Given the description of an element on the screen output the (x, y) to click on. 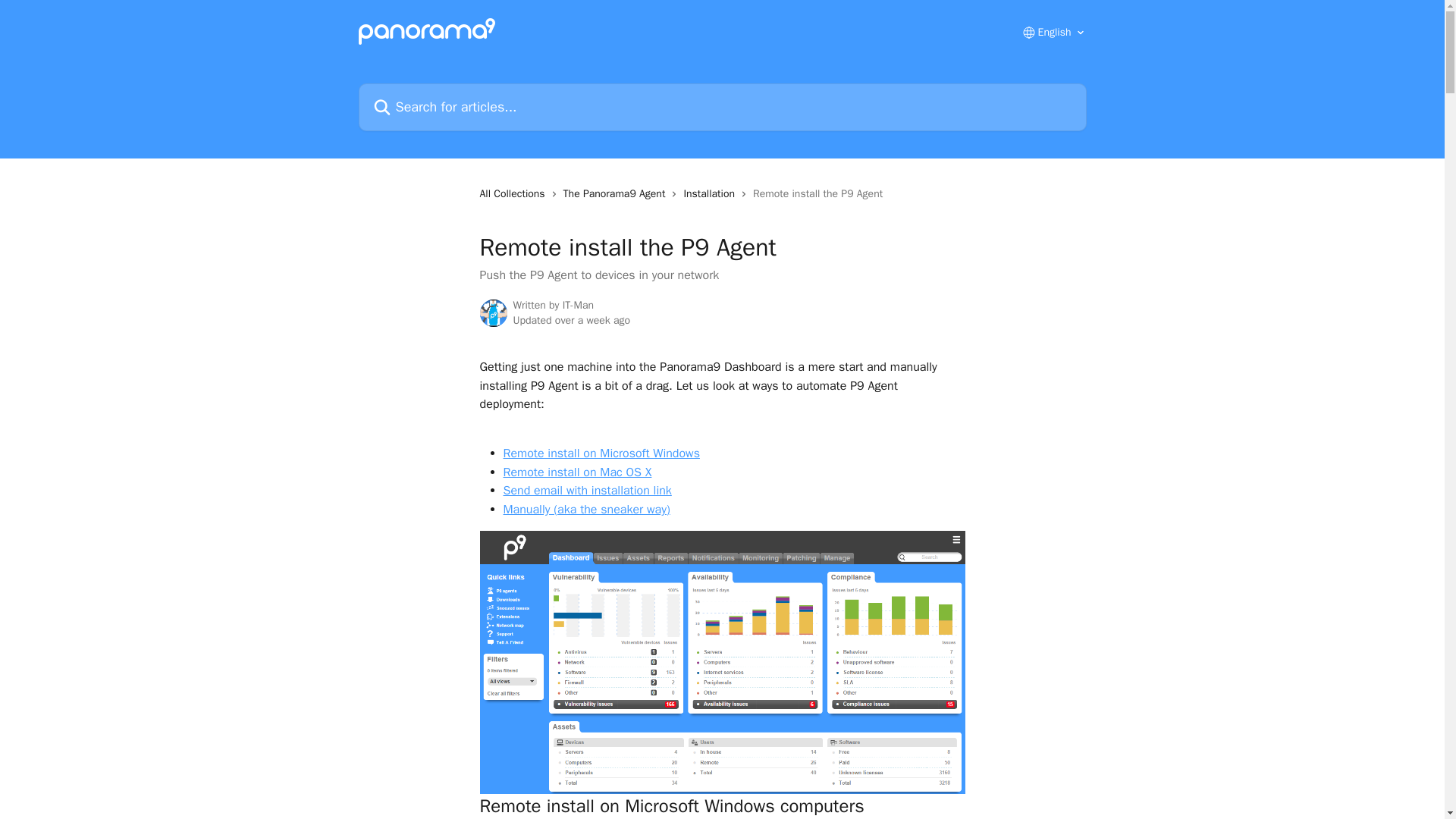
The Panorama9 Agent (617, 193)
Remote install on Microsoft Windows (601, 453)
All Collections (514, 193)
Send email with installation link (587, 490)
Remote install on Mac OS X (577, 472)
Installation (711, 193)
